Given the description of an element on the screen output the (x, y) to click on. 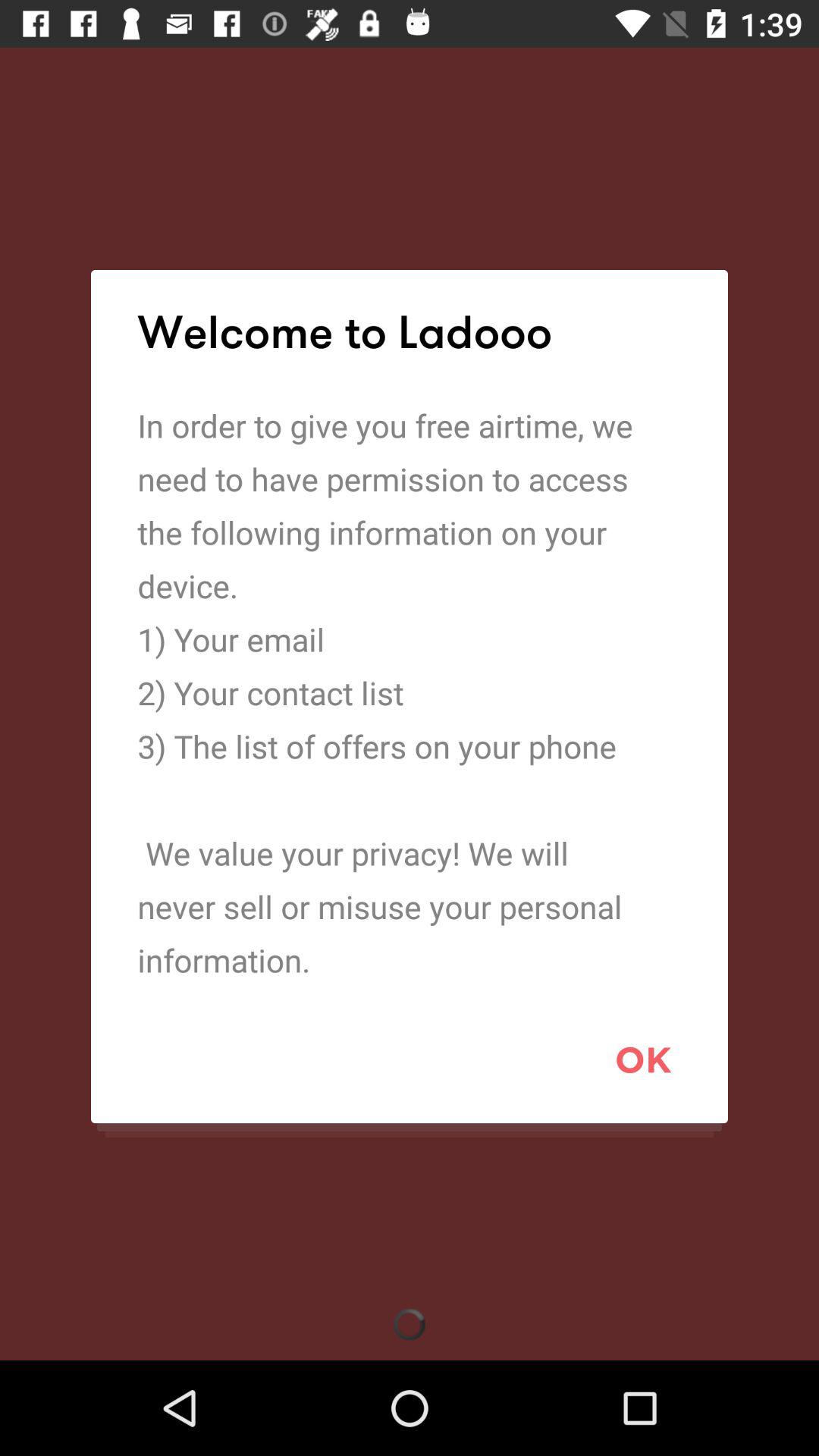
click ok at the bottom right corner (642, 1059)
